Given the description of an element on the screen output the (x, y) to click on. 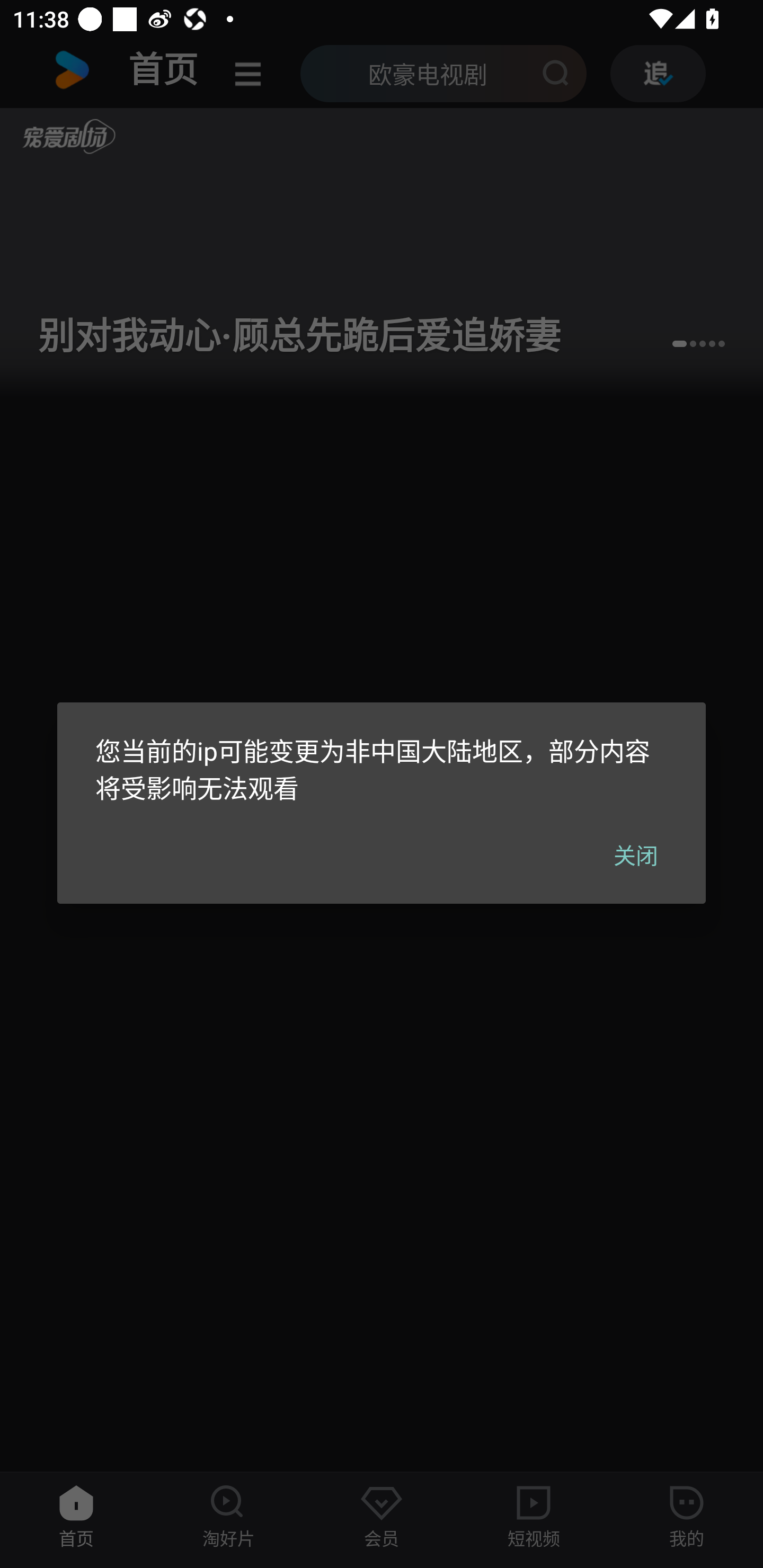
关闭 (635, 854)
